Given the description of an element on the screen output the (x, y) to click on. 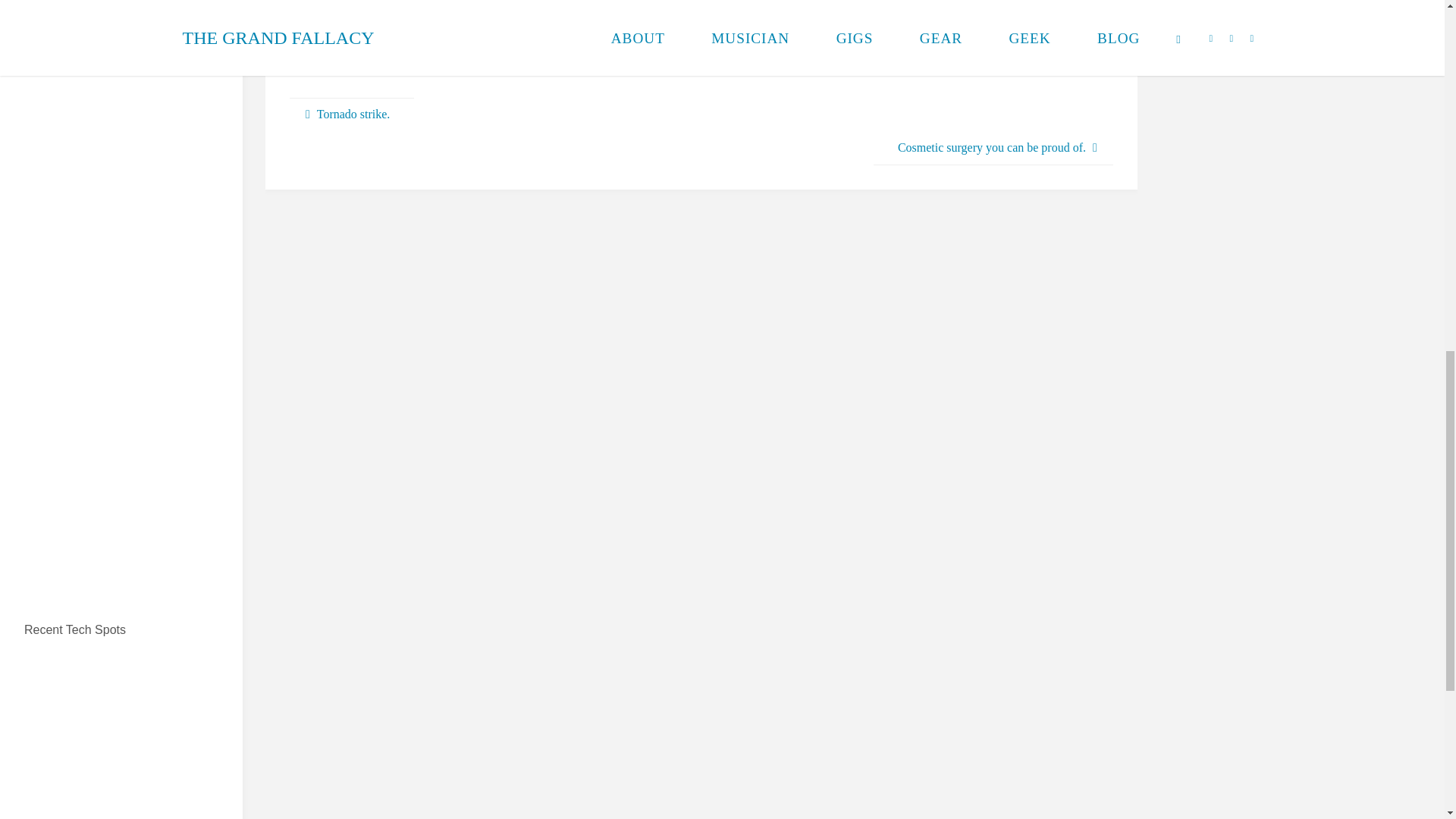
Tornado strike. (351, 114)
